Given the description of an element on the screen output the (x, y) to click on. 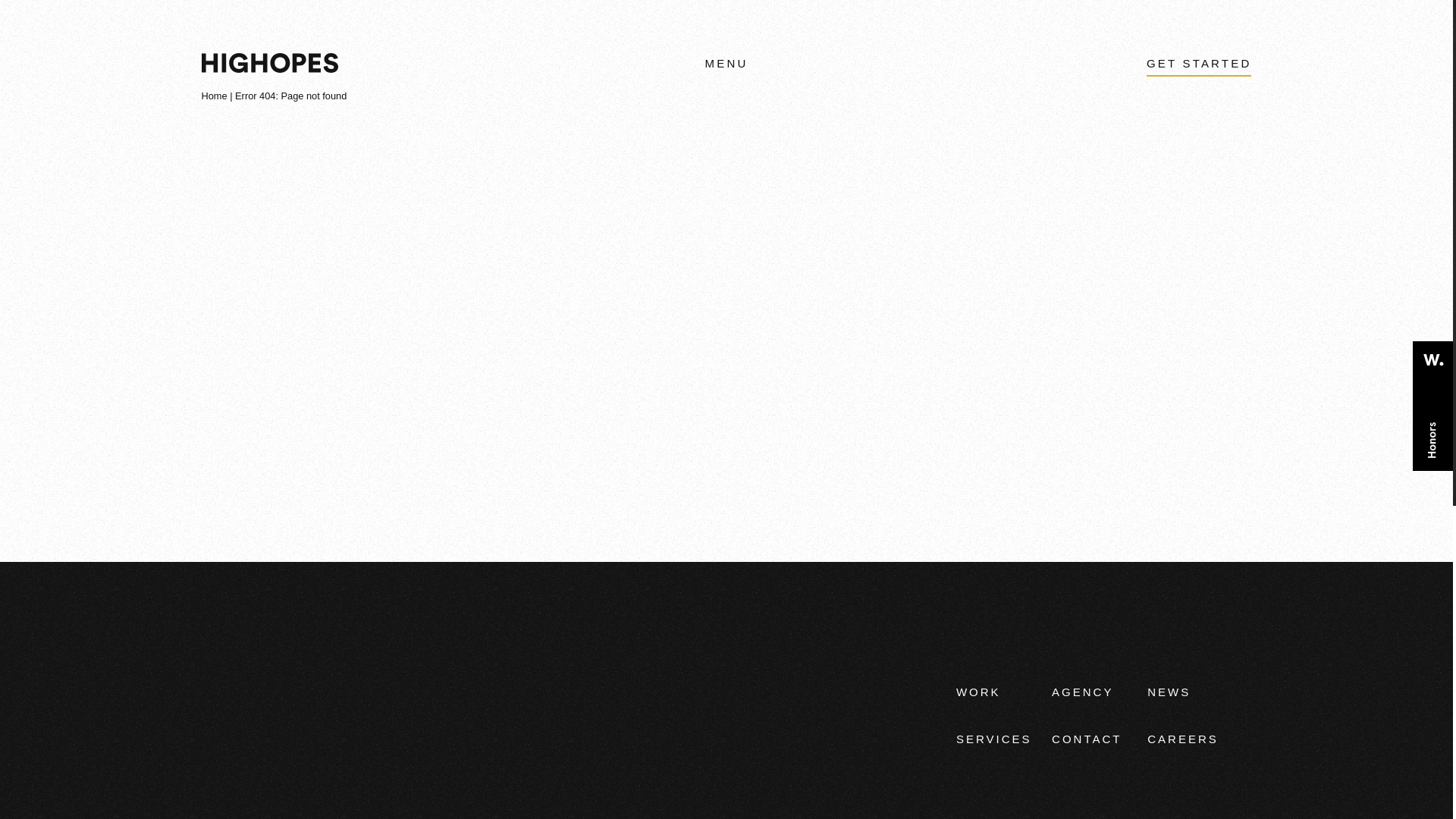
GET STARTED (1199, 62)
NEWS (1169, 691)
AGENCY (1082, 691)
SERVICES (994, 738)
CAREERS (1182, 738)
CONTACT (1086, 738)
MENU (725, 63)
Home (214, 94)
WORK (978, 691)
